Given the description of an element on the screen output the (x, y) to click on. 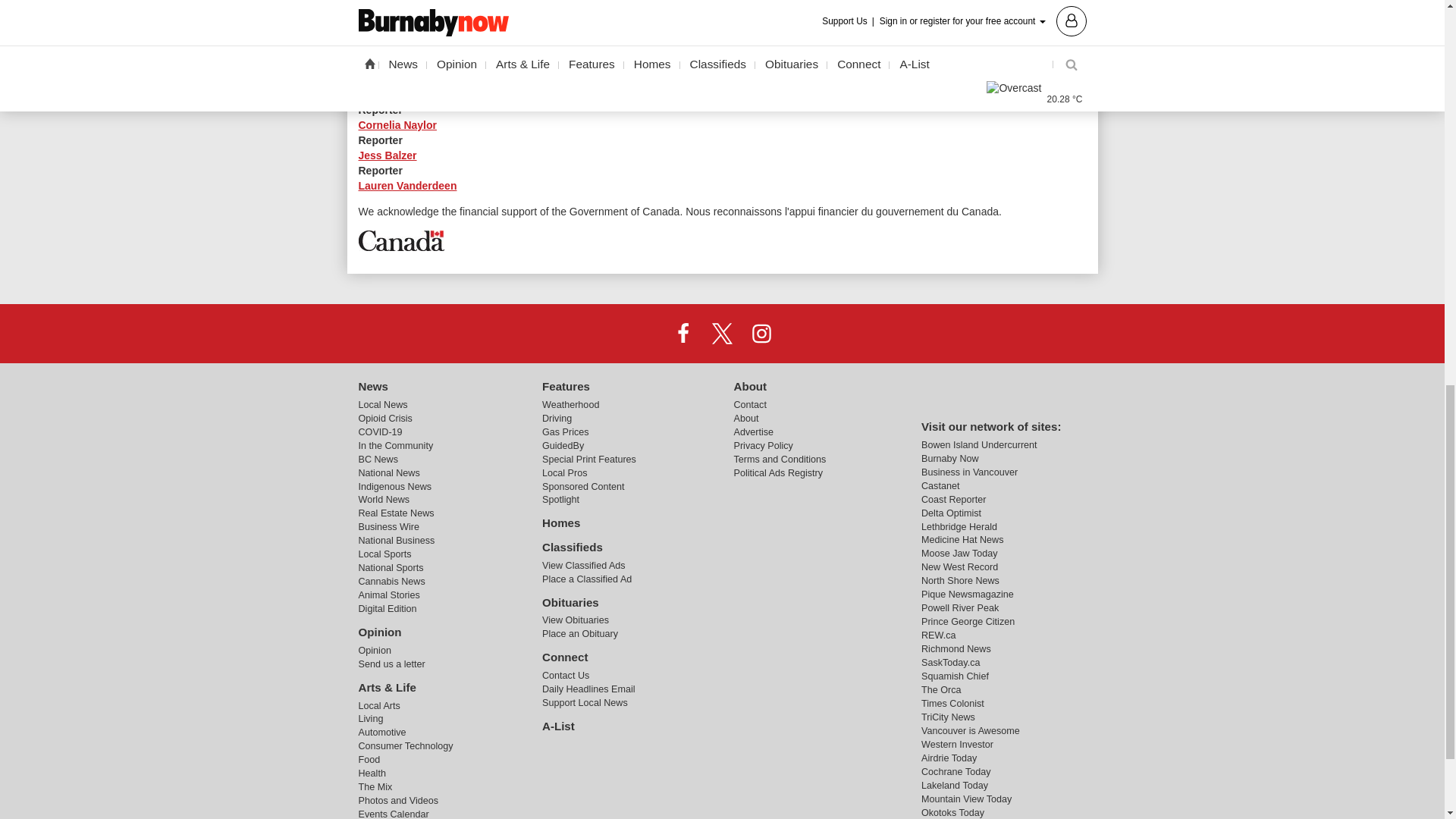
X (721, 332)
Facebook (683, 332)
Instagram (760, 332)
